Given the description of an element on the screen output the (x, y) to click on. 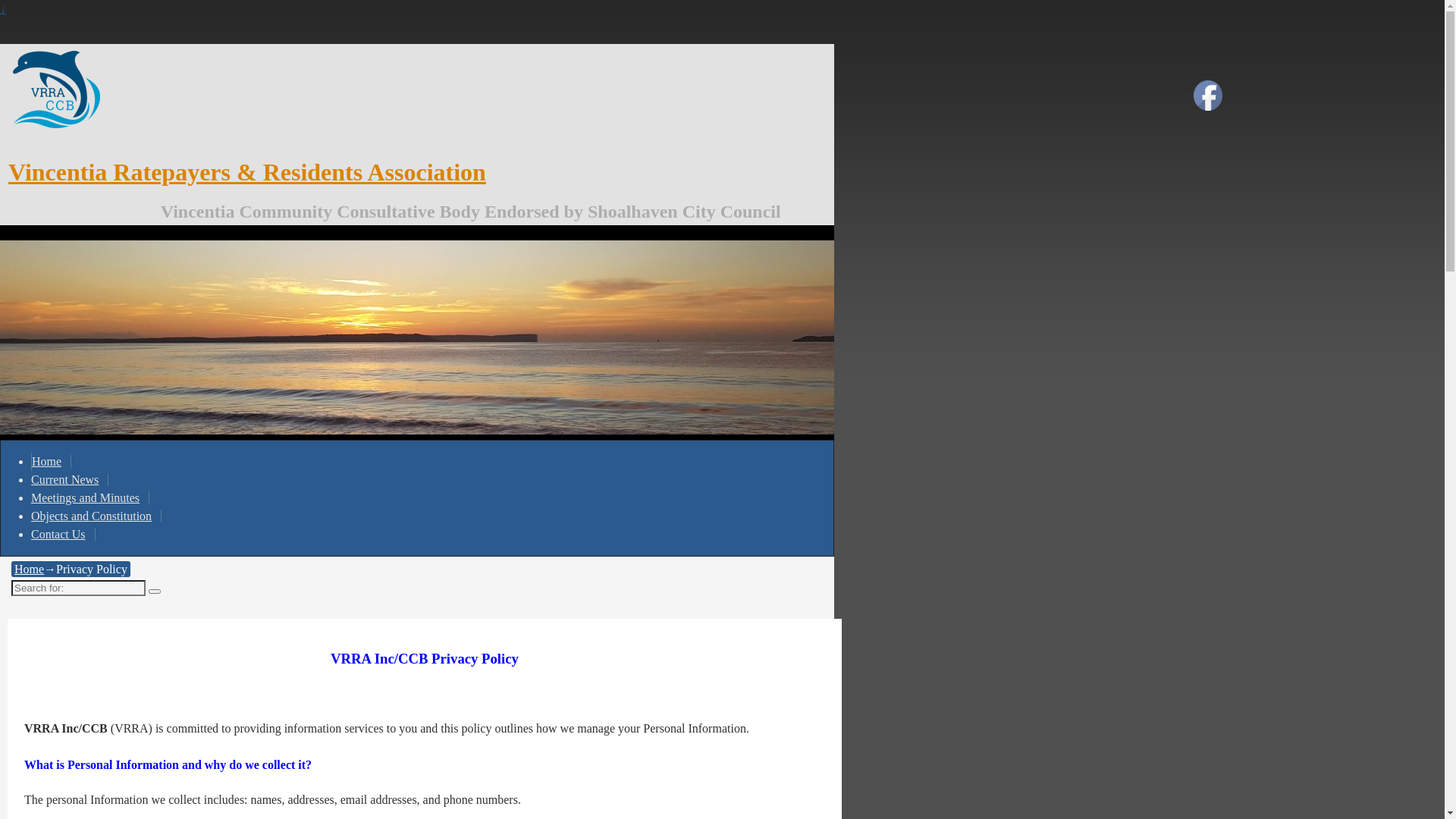
Contact Us Element type: text (63, 533)
Meetings and Minutes Element type: text (90, 497)
Home Element type: text (51, 461)
Vincentia Ratepayers & Residents Association Element type: text (247, 171)
Home Element type: text (28, 568)
Objects and Constitution Element type: text (96, 515)
Facebook Element type: hover (1207, 95)
Current News Element type: text (69, 479)
